Given the description of an element on the screen output the (x, y) to click on. 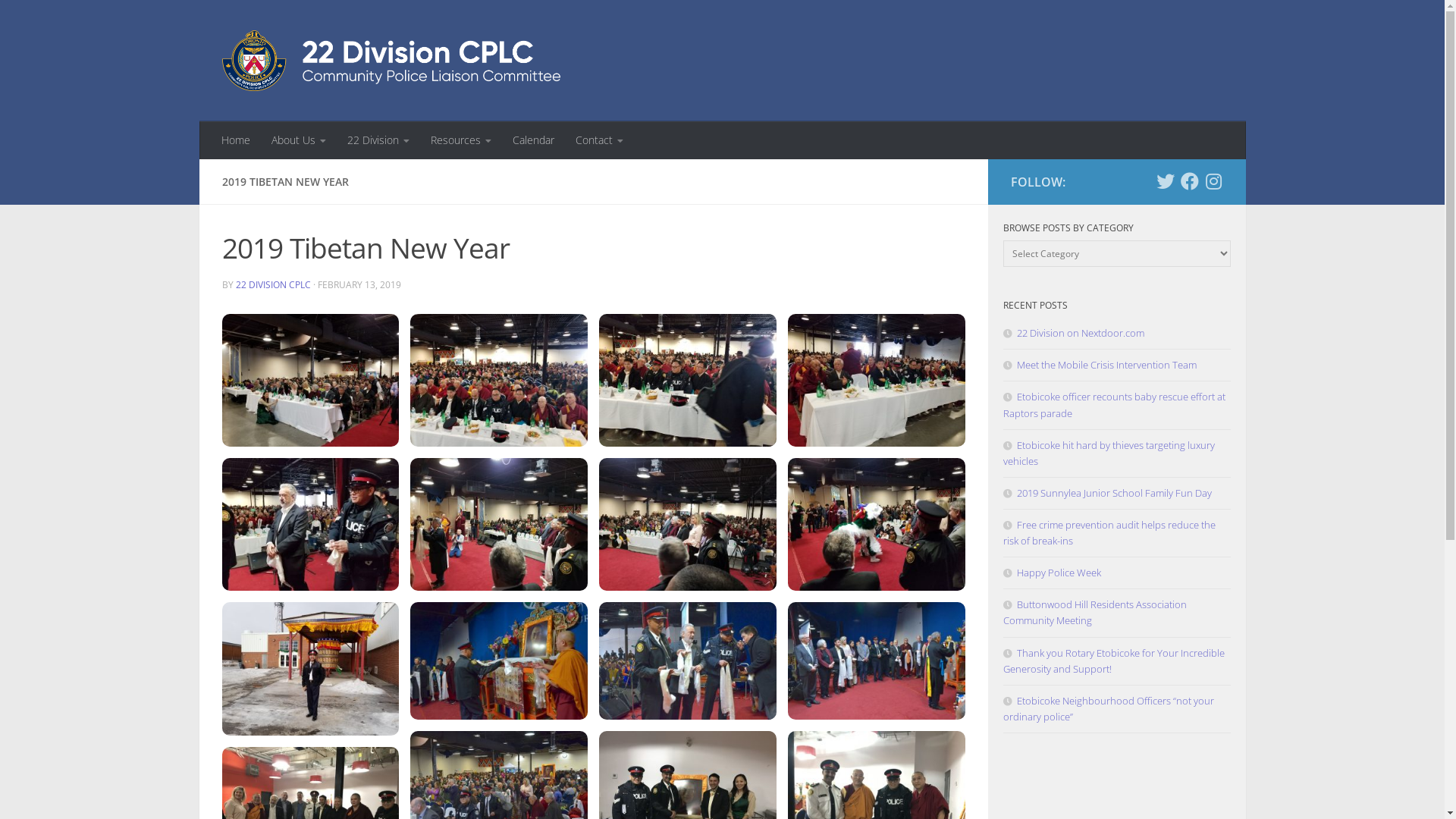
Buttonwood Hill Residents Association Community Meeting Element type: text (1094, 612)
Skip to content Element type: text (60, 21)
22 Division on Nextdoor.com Element type: text (1072, 332)
Contact Element type: text (598, 140)
Home Element type: text (235, 140)
Resources Element type: text (461, 140)
Follow us on Facebook Element type: hover (1188, 181)
2019 Sunnylea Junior School Family Fun Day Element type: text (1106, 492)
22 Division Element type: text (378, 140)
Calendar Element type: text (533, 140)
Follow us on Twitter Element type: hover (1164, 181)
22 DIVISION CPLC Element type: text (272, 284)
Meet the Mobile Crisis Intervention Team Element type: text (1098, 364)
Happy Police Week Element type: text (1051, 572)
About Us Element type: text (298, 140)
Etobicoke hit hard by thieves targeting luxury vehicles Element type: text (1108, 452)
22 Division CPLC | Home page Element type: hover (390, 60)
Follow us on Instagram Element type: hover (1213, 181)
